Given the description of an element on the screen output the (x, y) to click on. 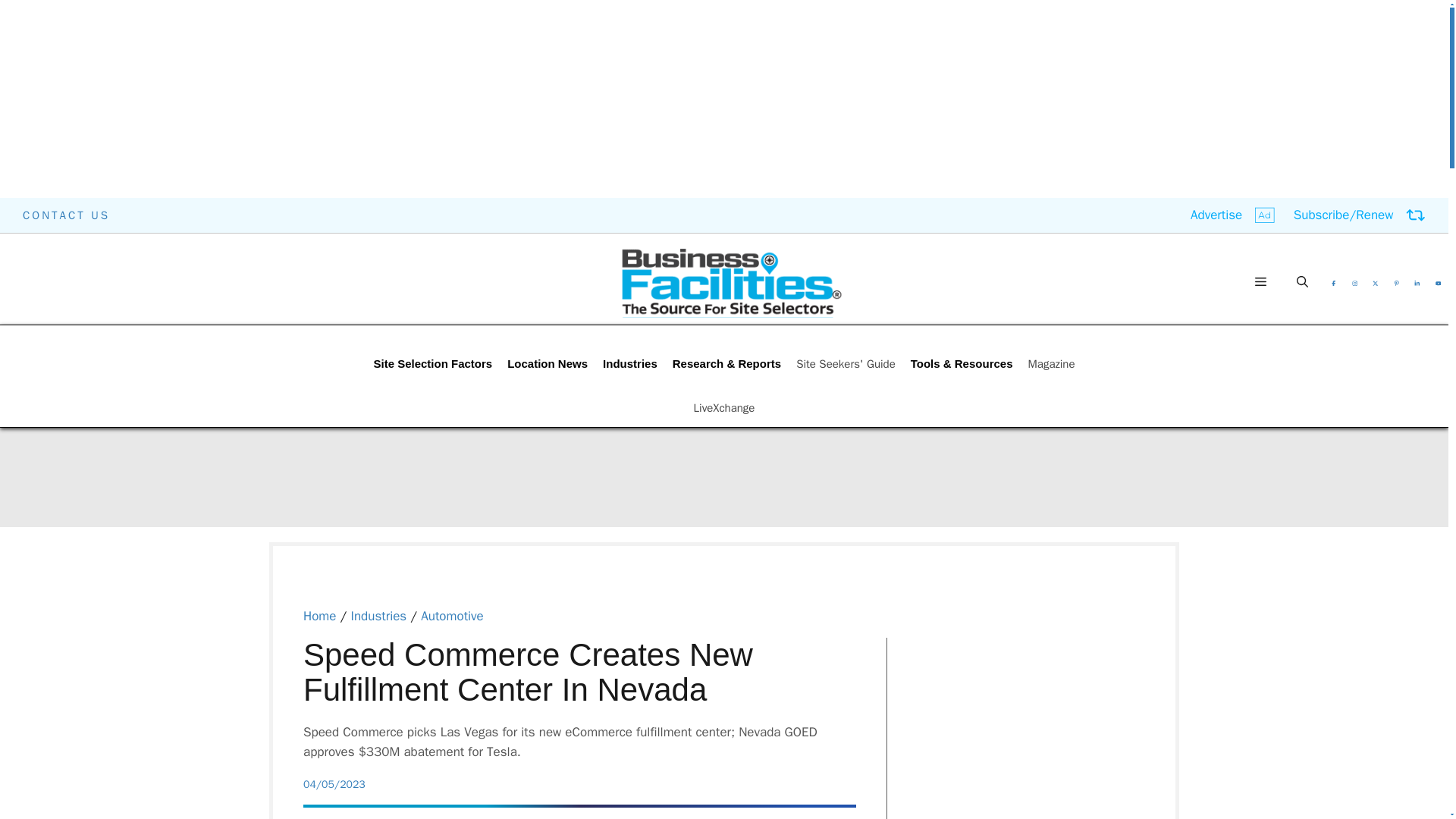
Advertise (1233, 215)
Site Selection Factors (432, 364)
Location News (547, 364)
Business Facilities Magazine (731, 281)
CONTACT US (66, 214)
